Given the description of an element on the screen output the (x, y) to click on. 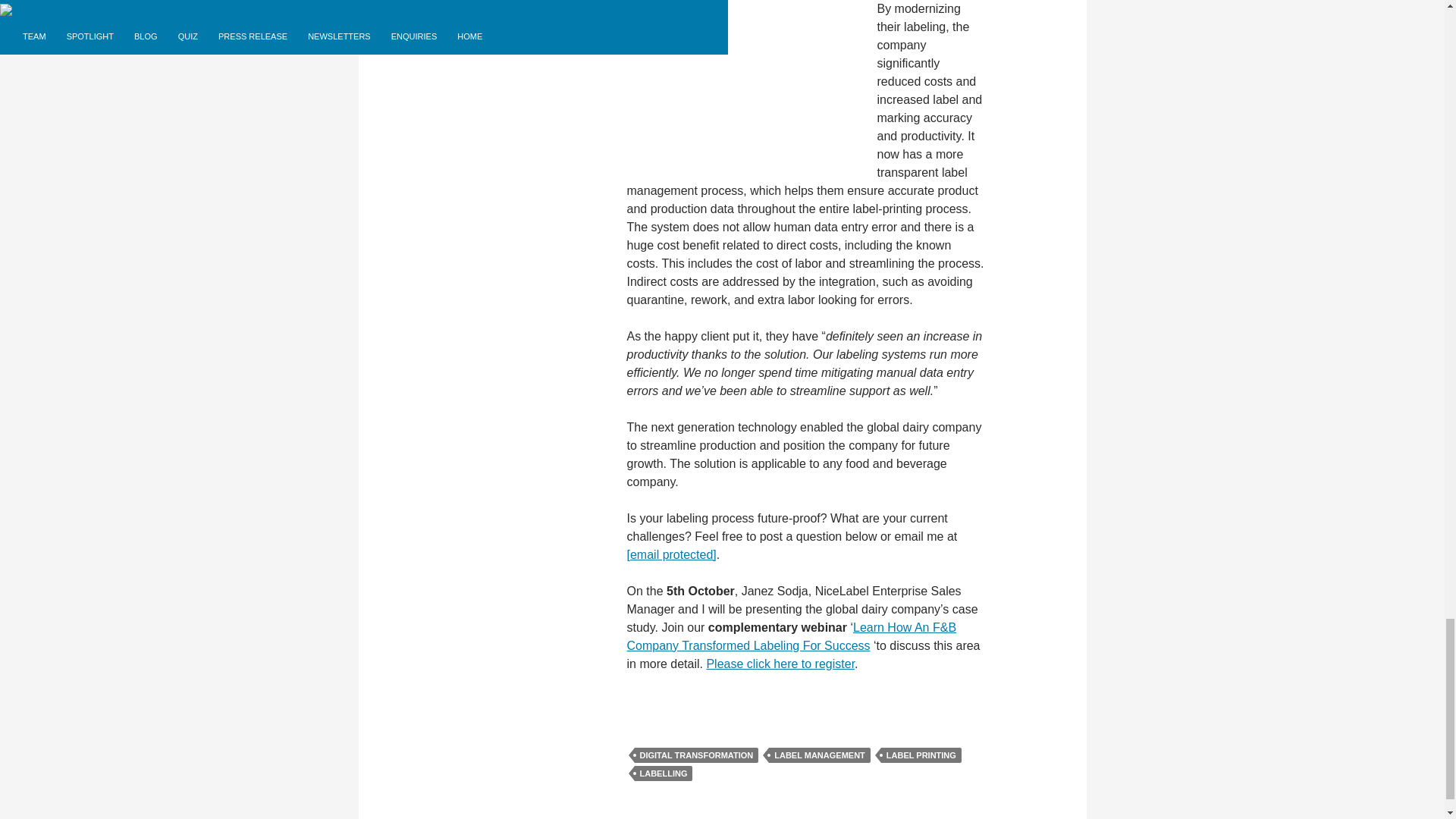
LABEL PRINTING (920, 754)
Please click here to register (780, 663)
LABELLING (663, 773)
DIGITAL TRANSFORMATION (695, 754)
Free Webinar (791, 635)
LABEL MANAGEMENT (819, 754)
